Given the description of an element on the screen output the (x, y) to click on. 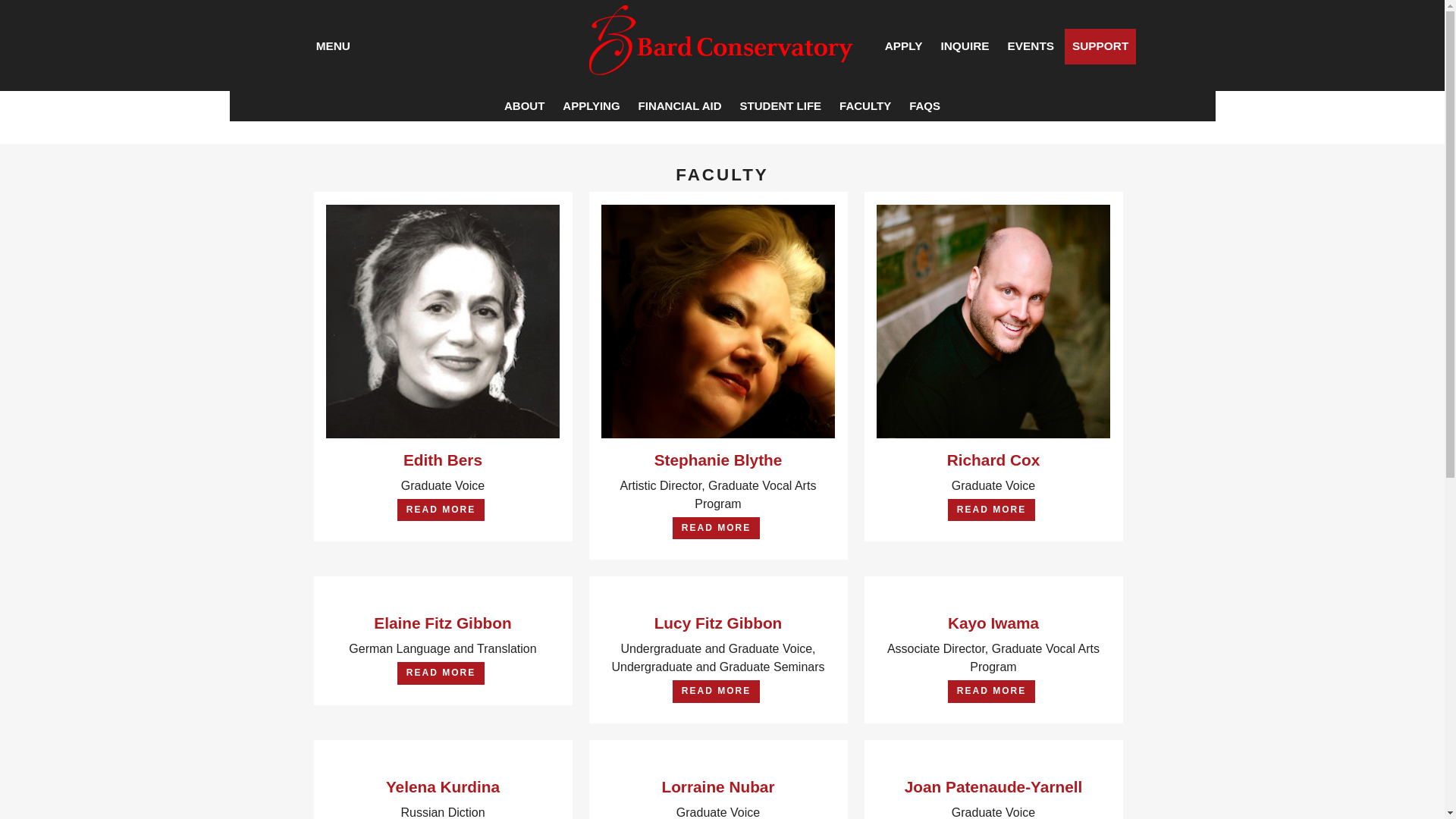
Skip to main content. (76, 28)
MENU (333, 45)
SEARCH (395, 44)
SUPPORT (1099, 45)
APPLY (903, 45)
EVENTS (1029, 45)
INQUIRE (964, 45)
